Given the description of an element on the screen output the (x, y) to click on. 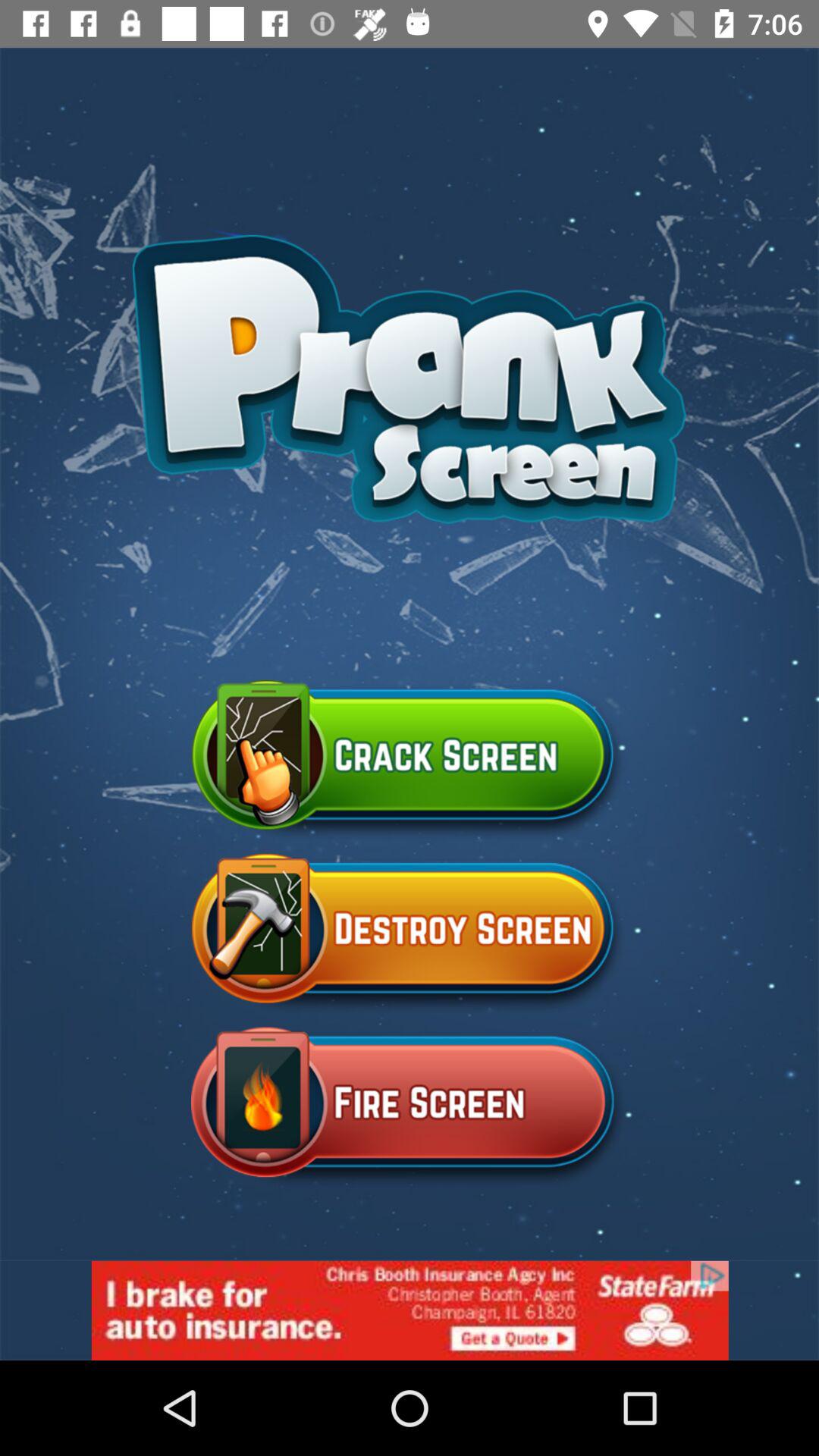
select the destroy screen (409, 934)
